Given the description of an element on the screen output the (x, y) to click on. 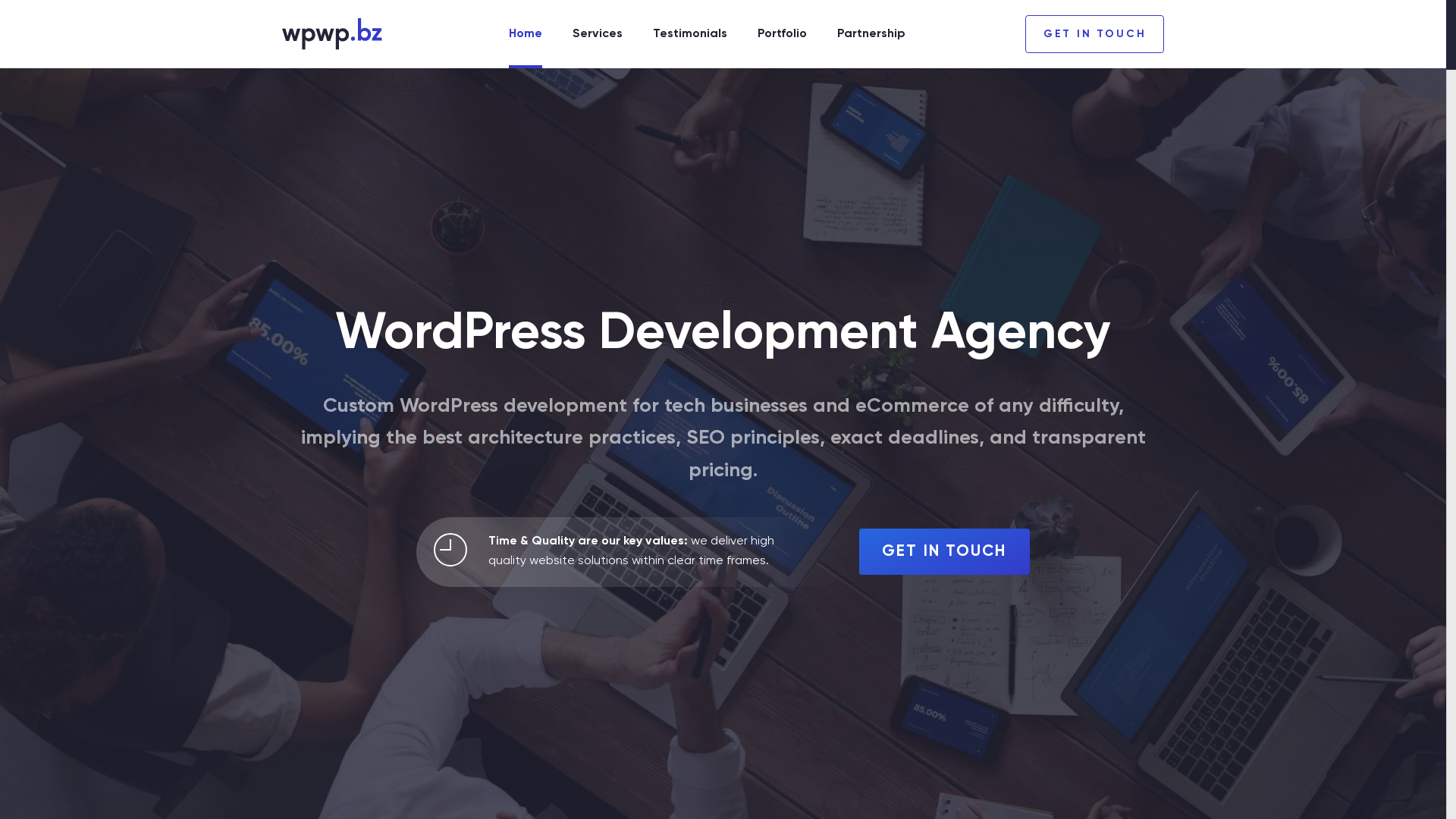
GET IN TOUCH Element type: text (943, 551)
Testimonials Element type: text (689, 34)
Partnership Element type: text (871, 34)
GET IN TOUCH Element type: text (1094, 34)
Home Element type: text (525, 34)
Portfolio Element type: text (781, 34)
Services Element type: text (597, 34)
Home Element type: hover (332, 34)
